Given the description of an element on the screen output the (x, y) to click on. 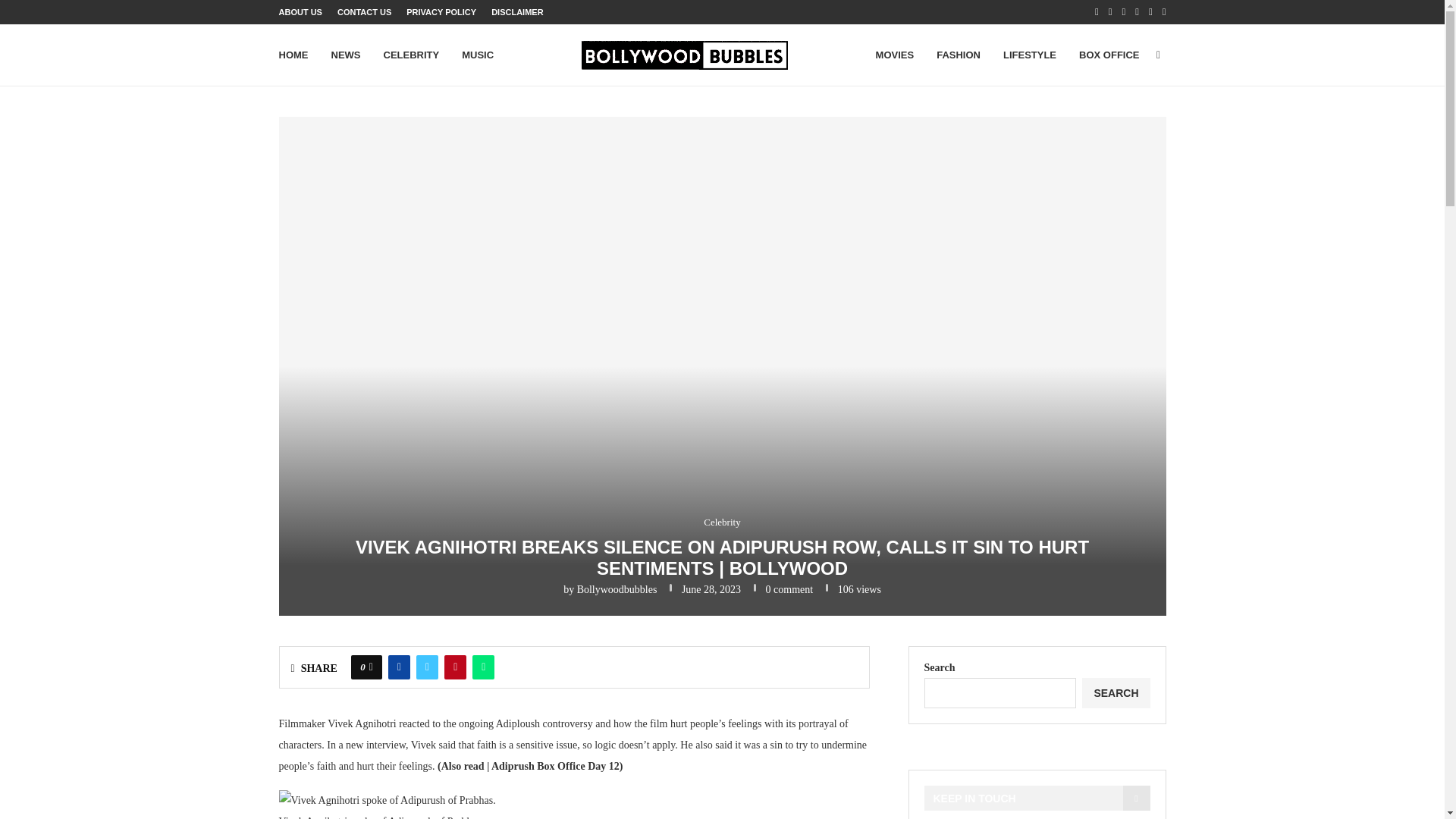
CELEBRITY (411, 55)
ABOUT US (300, 12)
Celebrity (721, 522)
Vivek Agnihotri spoke of Adipurush of Prabhas. (387, 800)
CONTACT US (364, 12)
DISCLAIMER (517, 12)
PRIVACY POLICY (441, 12)
Bollywoodbubbles (617, 589)
BOX OFFICE (1108, 55)
